Given the description of an element on the screen output the (x, y) to click on. 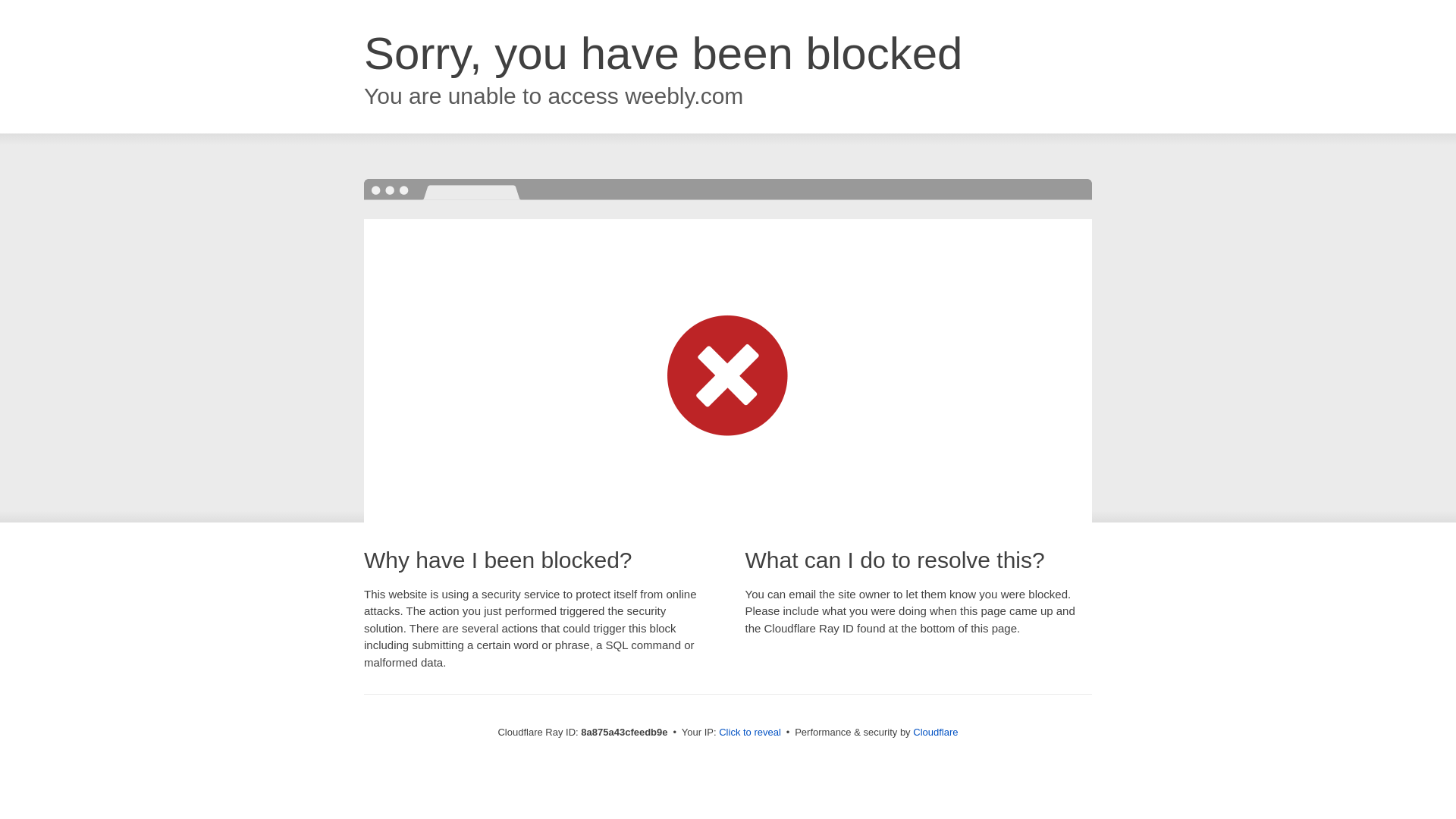
Click to reveal (749, 732)
Cloudflare (935, 731)
